Given the description of an element on the screen output the (x, y) to click on. 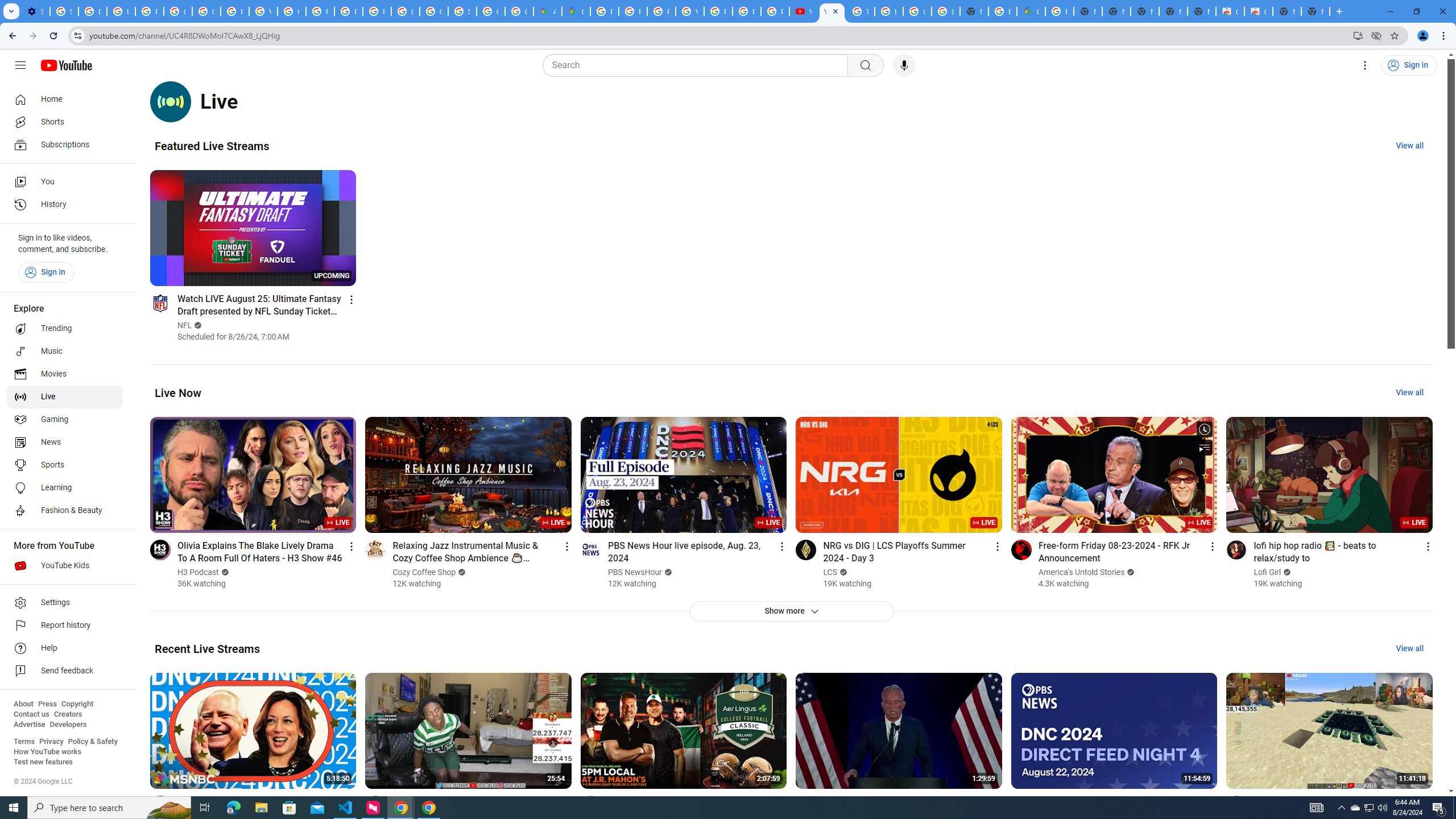
Explore new street-level details - Google Maps Help (1002, 11)
YouTube (803, 11)
Tips & tricks for Chrome - Google Chrome Help (860, 11)
Live Now (178, 392)
Test new features (42, 761)
Policy & Safety (91, 741)
Press (46, 703)
Policy Accountability and Transparency - Transparency Center (604, 11)
Go to channel (1236, 805)
Action menu (1427, 802)
Shorts (64, 121)
America's Untold Stories (1081, 572)
